Given the description of an element on the screen output the (x, y) to click on. 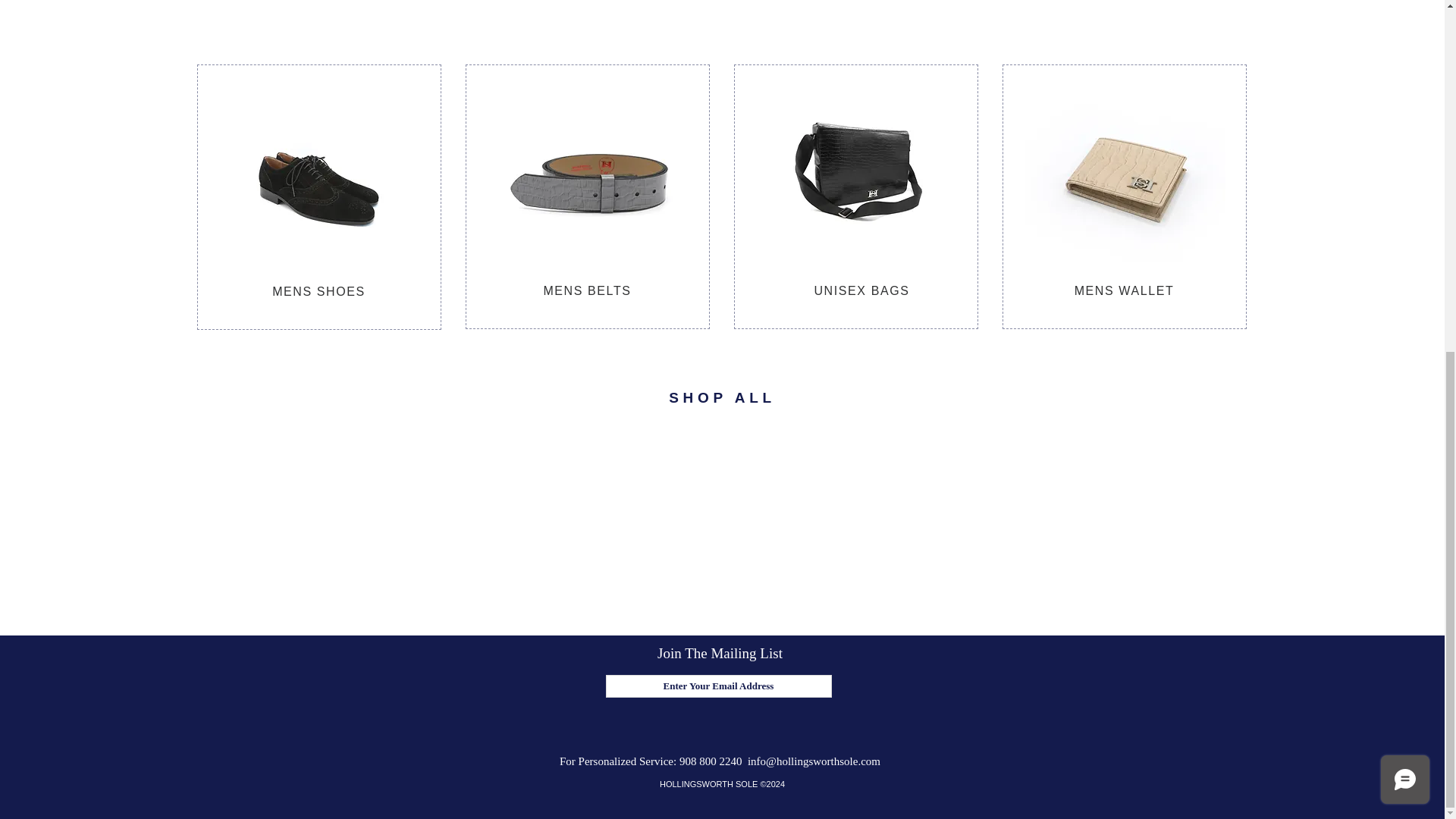
SHOP ALL (722, 392)
